Given the description of an element on the screen output the (x, y) to click on. 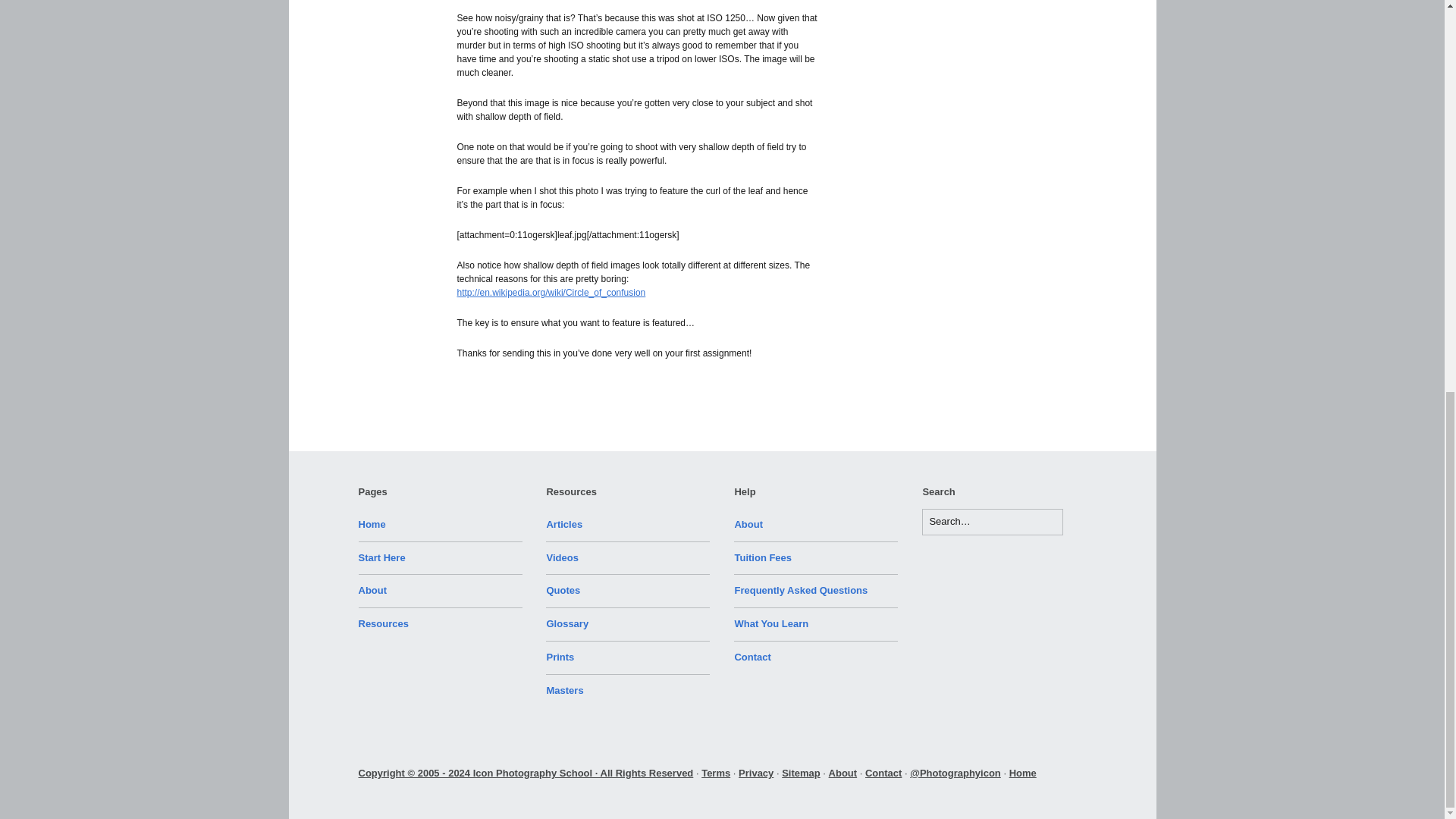
Press Enter to submit your search (991, 521)
Home (371, 523)
Photography Quotes (562, 590)
Masters Of Photography (564, 690)
Start Here (381, 557)
Photography Articles (564, 523)
Resources (382, 623)
About (372, 590)
Photography Glossary (567, 623)
Photography Videos (562, 557)
Photography Prints (559, 656)
